Given the description of an element on the screen output the (x, y) to click on. 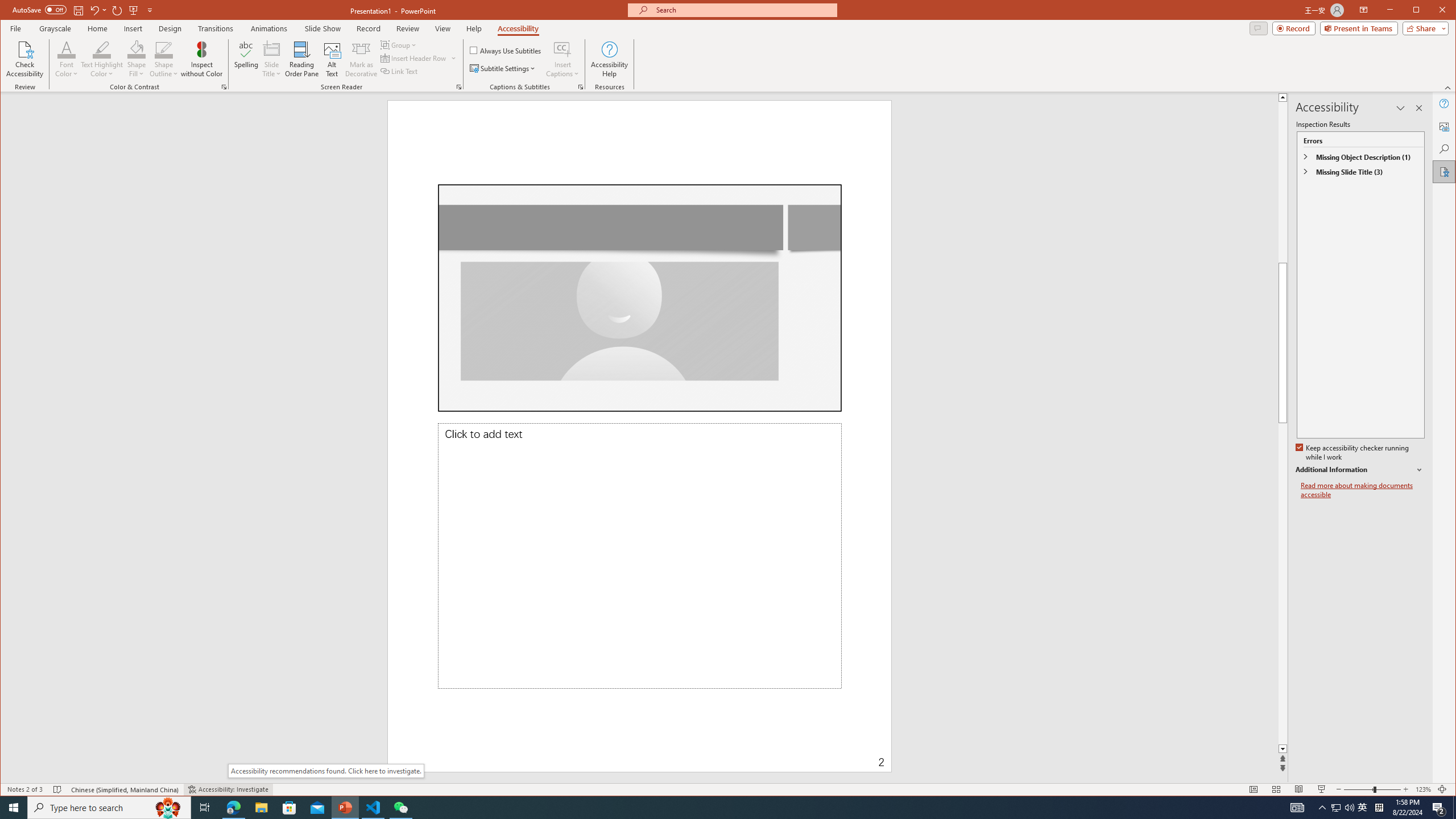
Insert Header Row (413, 57)
Insert Captions (562, 48)
